Given the description of an element on the screen output the (x, y) to click on. 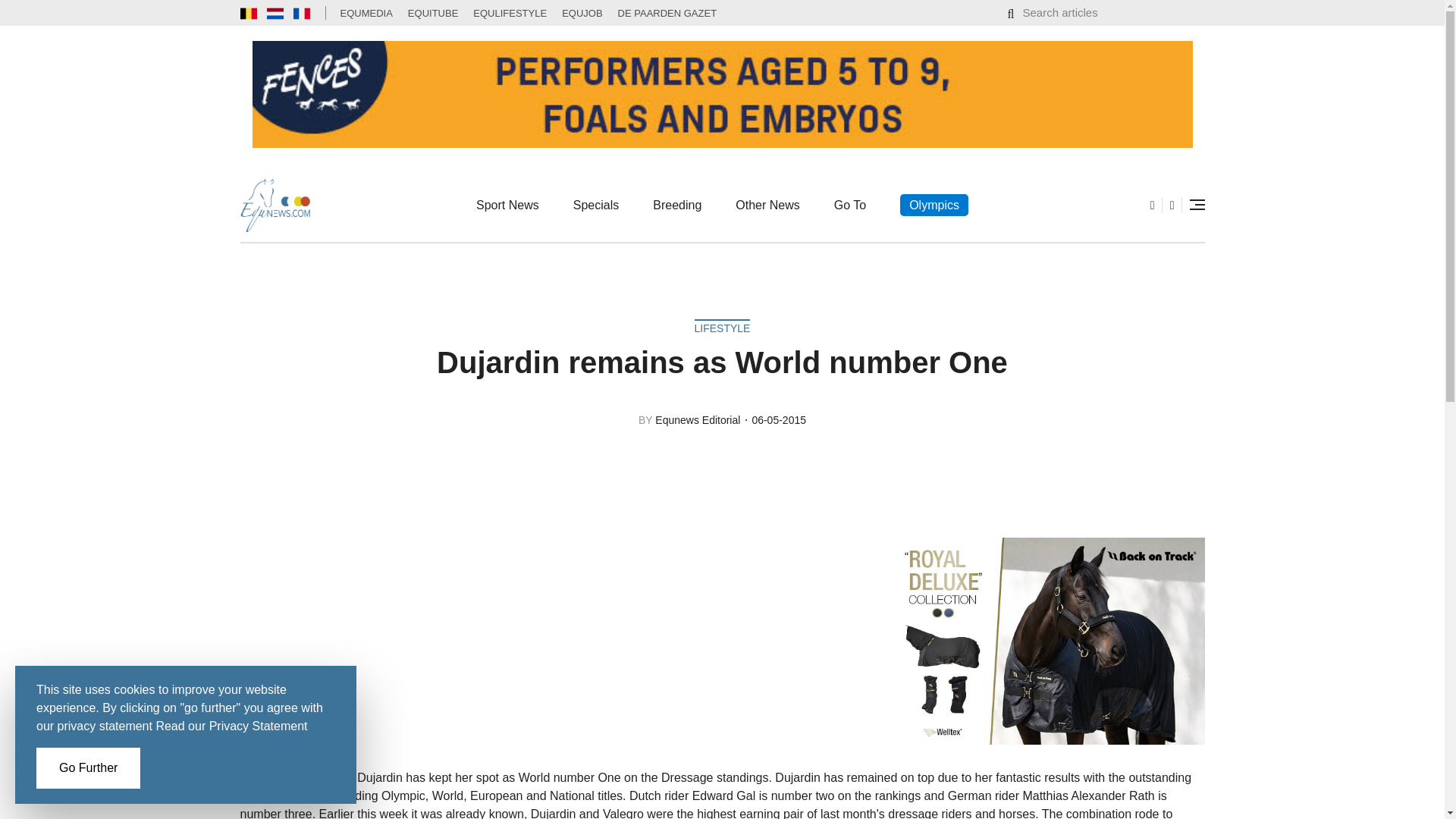
EQULIFESTYLE (510, 12)
Specials (595, 204)
DE PAARDEN GAZET (667, 12)
EQUITUBE (432, 12)
Go Further (87, 767)
EQUJOB (582, 12)
EQUMEDIA (365, 12)
Sport News (507, 204)
